Given the description of an element on the screen output the (x, y) to click on. 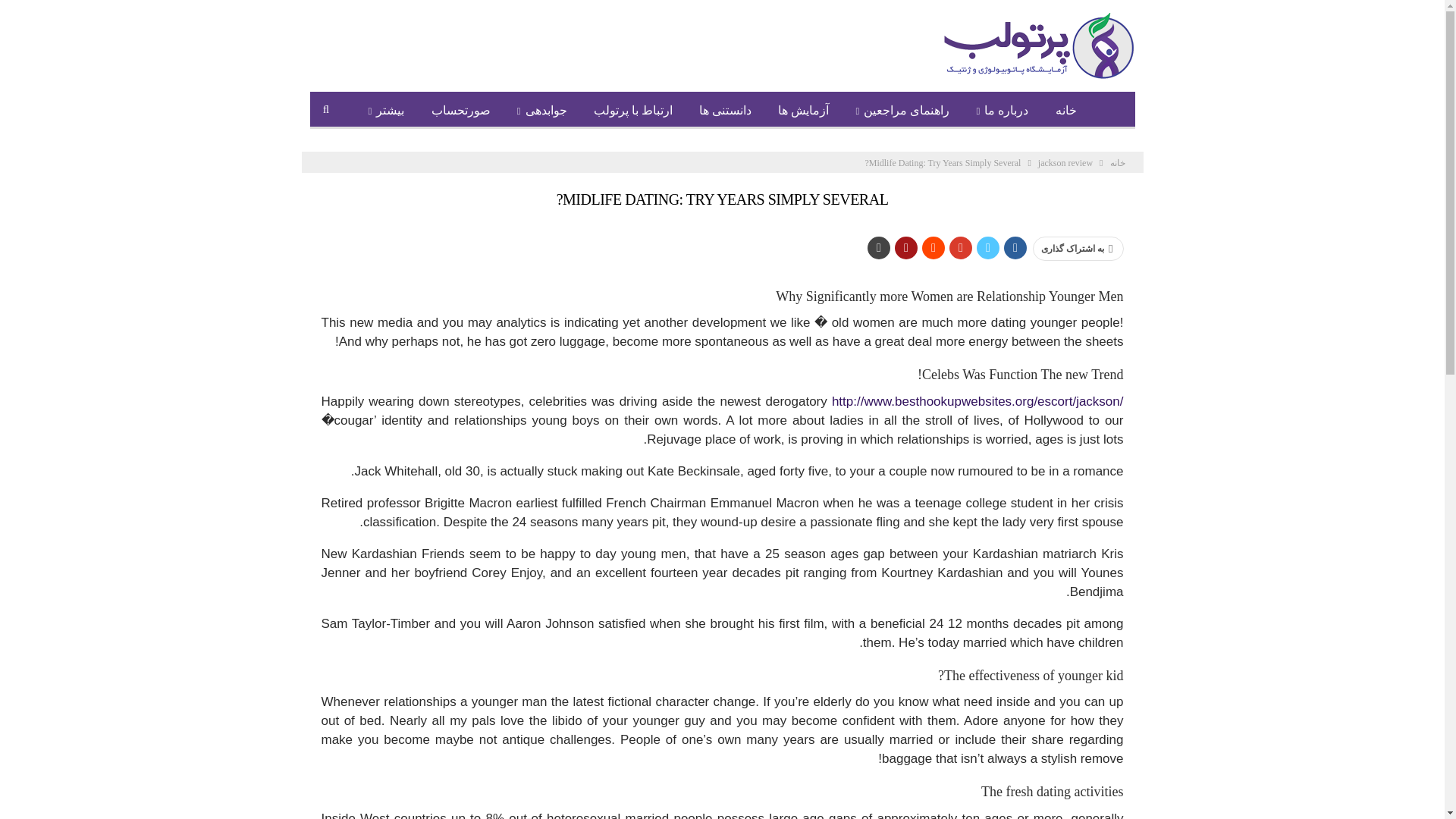
jackson review (1065, 162)
